Given the description of an element on the screen output the (x, y) to click on. 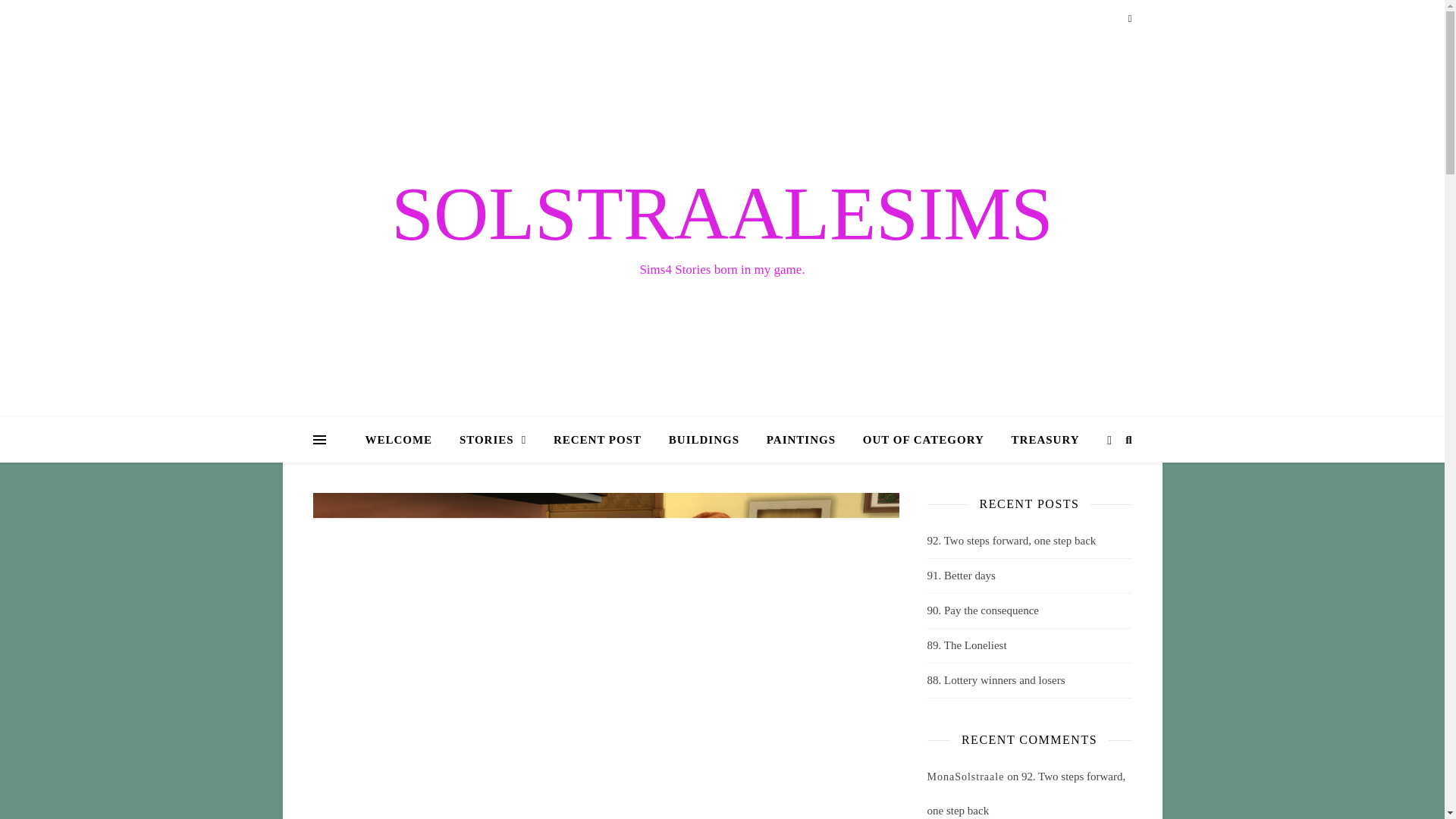
STORIES (492, 439)
BUILDINGS (703, 439)
WELCOME (404, 439)
PAINTINGS (800, 439)
RECENT POST (597, 439)
TREASURY (1039, 439)
OUT OF CATEGORY (922, 439)
